Given the description of an element on the screen output the (x, y) to click on. 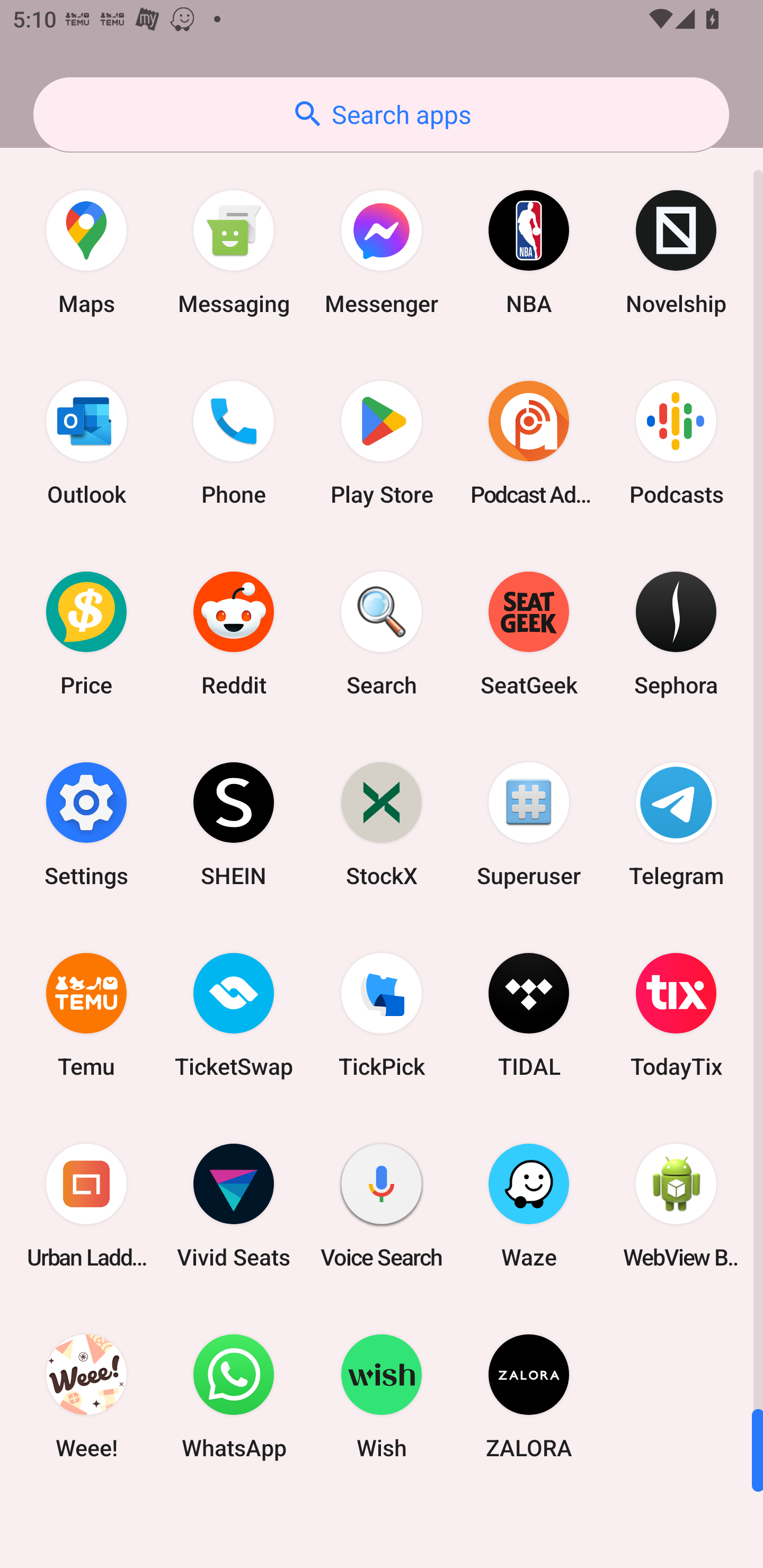
  Search apps (381, 114)
Maps (86, 252)
Messaging (233, 252)
Messenger (381, 252)
NBA (528, 252)
Novelship (676, 252)
Outlook (86, 442)
Phone (233, 442)
Play Store (381, 442)
Podcast Addict (528, 442)
Podcasts (676, 442)
Price (86, 633)
Reddit (233, 633)
Search (381, 633)
SeatGeek (528, 633)
Sephora (676, 633)
Settings (86, 823)
SHEIN (233, 823)
StockX (381, 823)
Superuser (528, 823)
Telegram (676, 823)
Temu (86, 1014)
TicketSwap (233, 1014)
TickPick (381, 1014)
TIDAL (528, 1014)
TodayTix (676, 1014)
Urban Ladder (86, 1205)
Vivid Seats (233, 1205)
Voice Search (381, 1205)
Waze (528, 1205)
WebView Browser Tester (676, 1205)
Weee! (86, 1396)
WhatsApp (233, 1396)
Wish (381, 1396)
ZALORA (528, 1396)
